Given the description of an element on the screen output the (x, y) to click on. 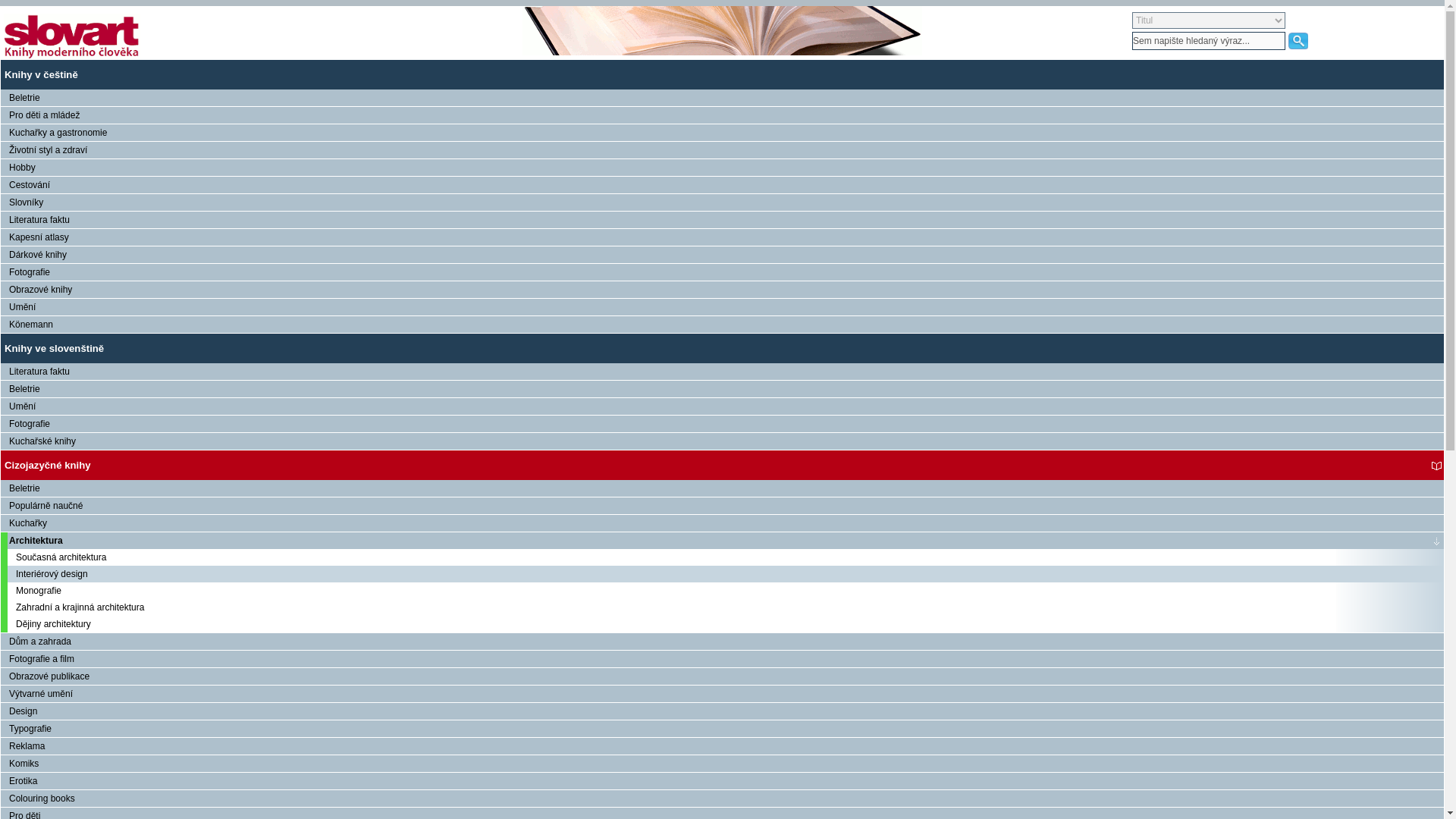
Fotografie a film (722, 658)
Beletrie (722, 388)
Monografie (722, 590)
Hledat (1297, 40)
Literatura faktu (722, 219)
Komiks (722, 763)
Fotografie (722, 271)
Architektura (722, 540)
Slovart (71, 35)
Literatura faktu (722, 219)
